Given the description of an element on the screen output the (x, y) to click on. 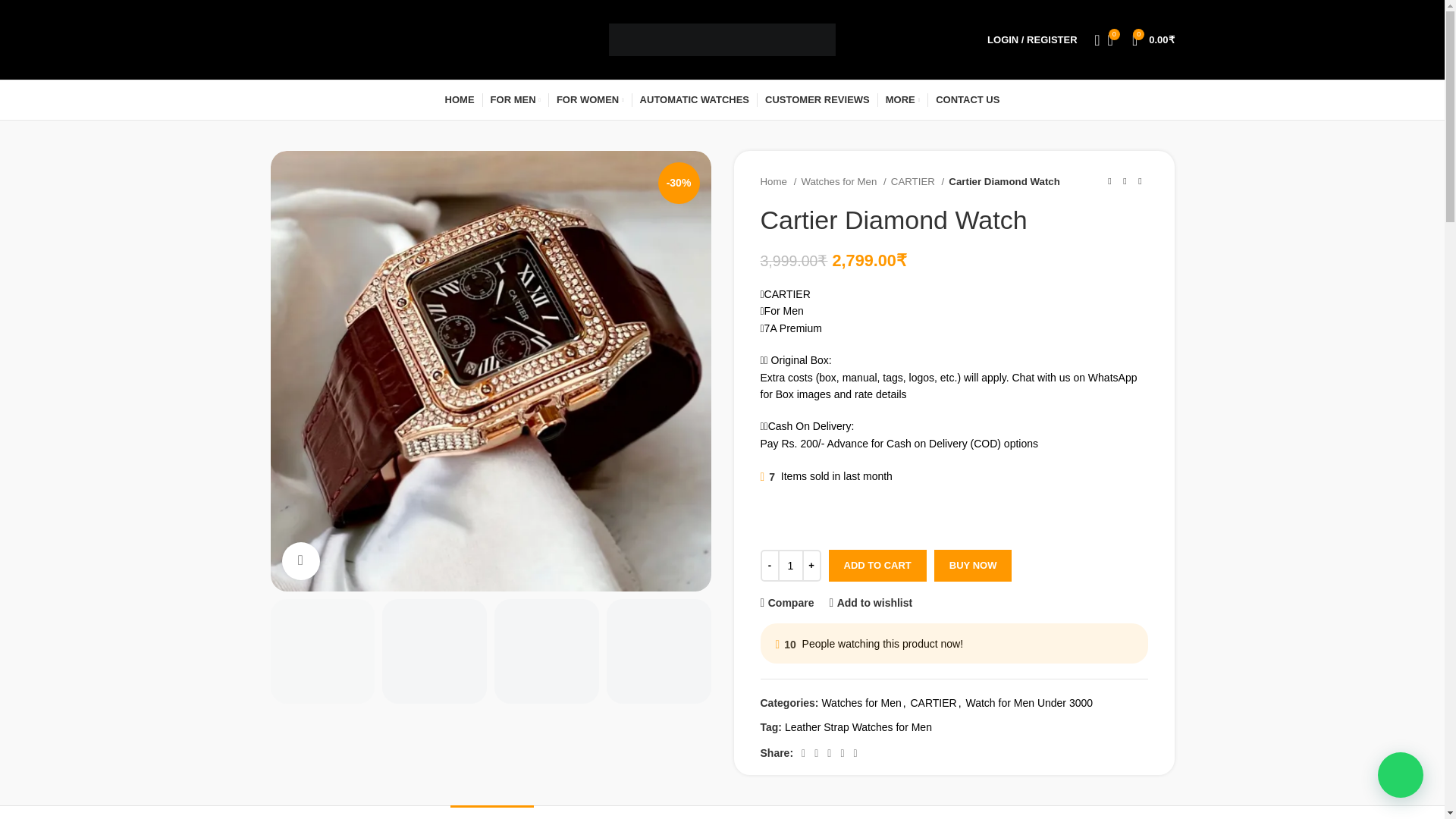
My account (1031, 39)
FOR WOMEN (590, 100)
FOR MEN (515, 100)
Shopping cart (1153, 39)
HOME (459, 100)
AUTOMATIC WATCHES (694, 100)
